Given the description of an element on the screen output the (x, y) to click on. 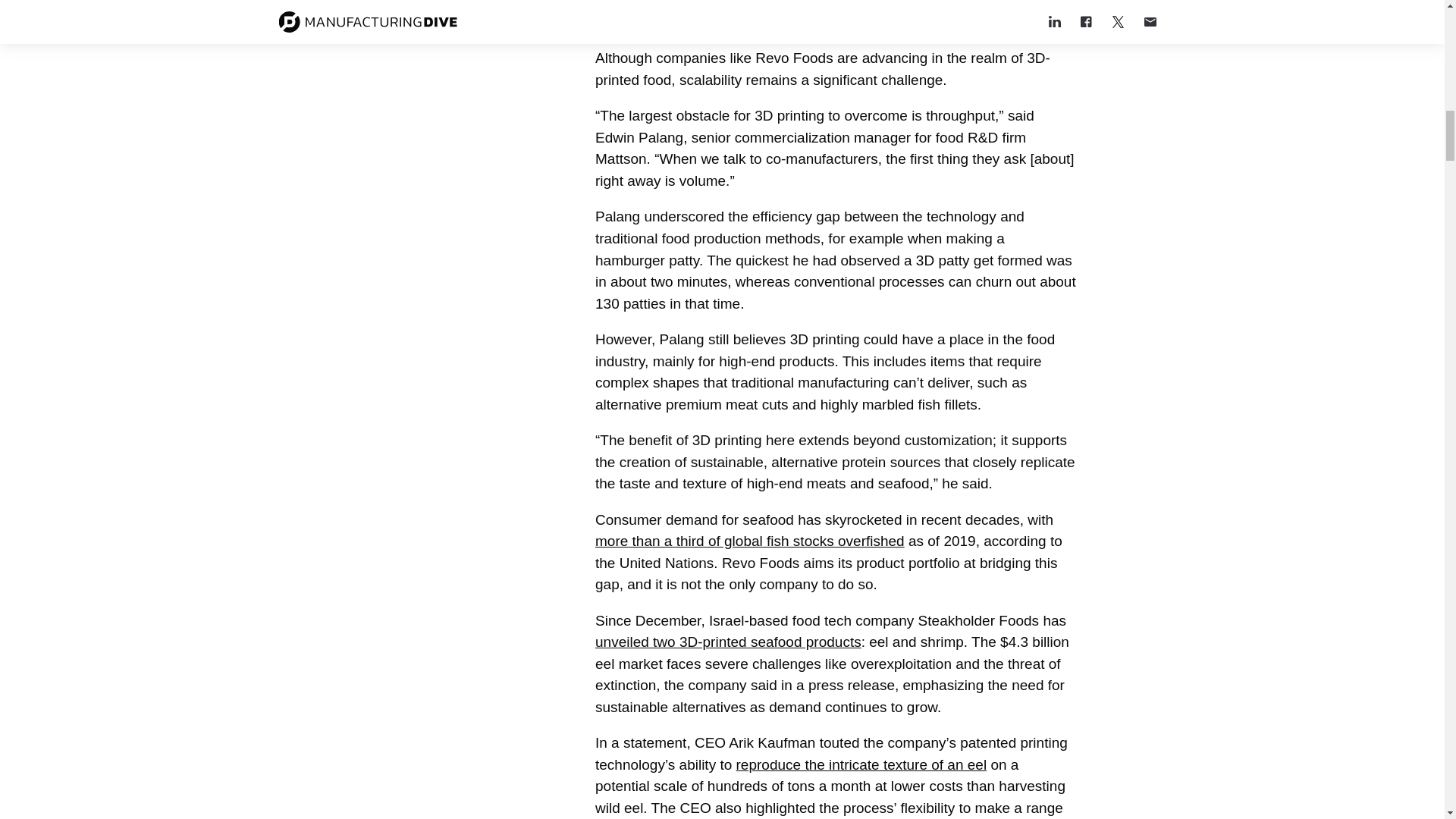
unveiled two 3D-printed seafood products (728, 641)
reproduce the intricate texture of an eel (861, 764)
more than a third of global fish stocks overfished (749, 540)
